Given the description of an element on the screen output the (x, y) to click on. 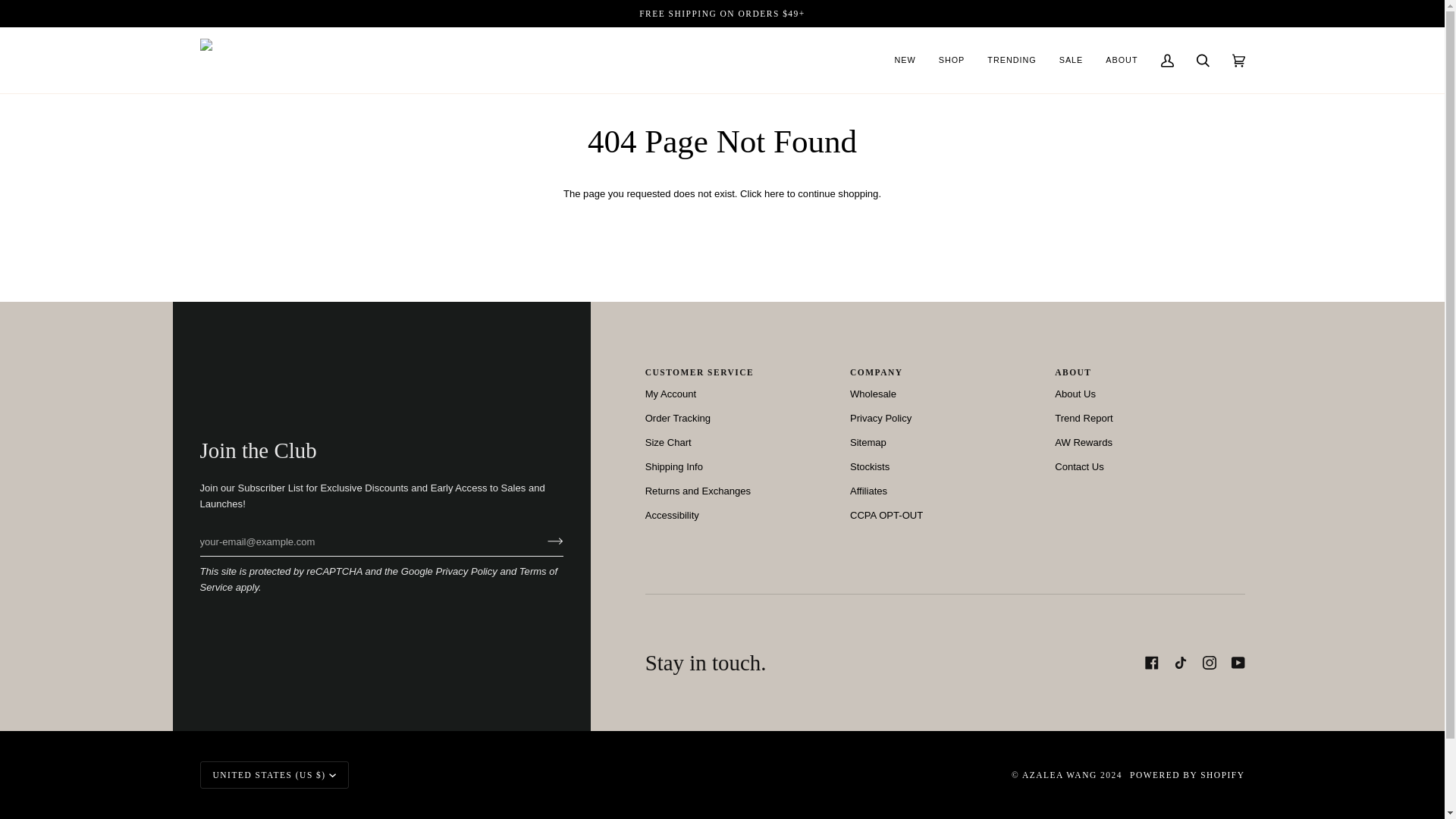
Instagram (1208, 662)
Tiktok (1180, 662)
Facebook (1151, 662)
YouTube (1237, 662)
